Given the description of an element on the screen output the (x, y) to click on. 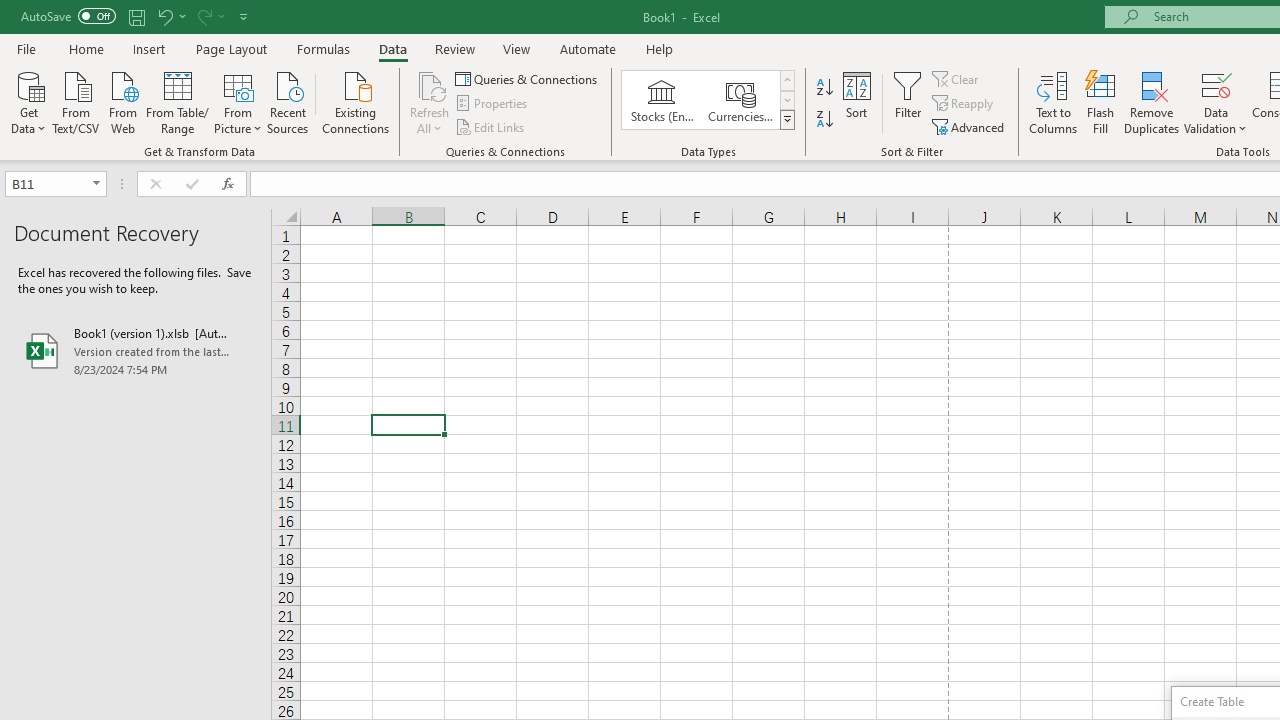
Data Types (786, 120)
Edit Links (491, 126)
Sort... (856, 102)
Queries & Connections (527, 78)
Filter (908, 102)
